Given the description of an element on the screen output the (x, y) to click on. 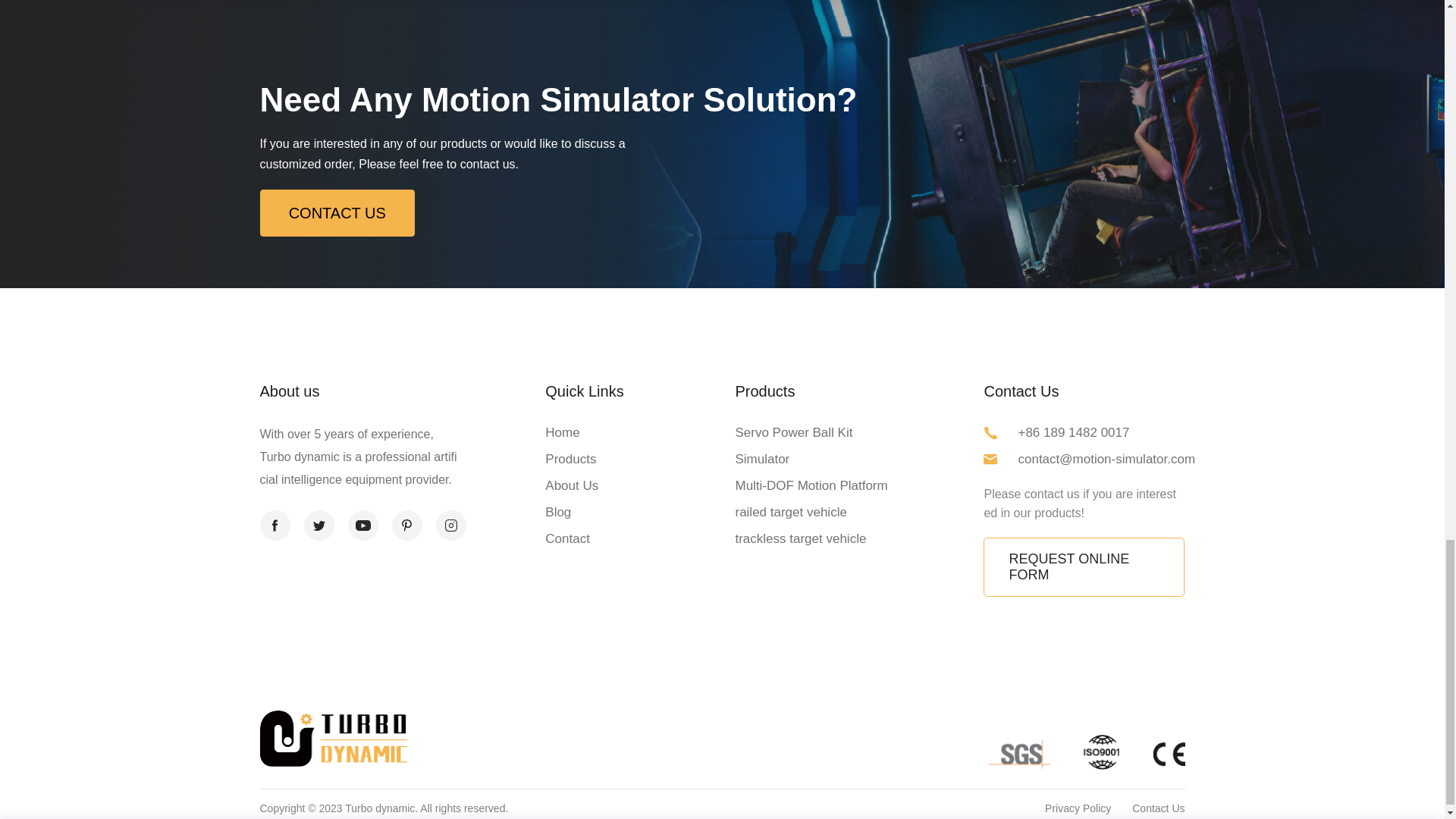
Simulator (762, 459)
Blog (557, 512)
Servo Power Ball Kit (793, 432)
trackless target vehicle (800, 538)
railed target vehicle (790, 512)
Products (569, 459)
CONTACT US (336, 212)
facebook (274, 525)
Home (561, 432)
pinterest (406, 525)
